Given the description of an element on the screen output the (x, y) to click on. 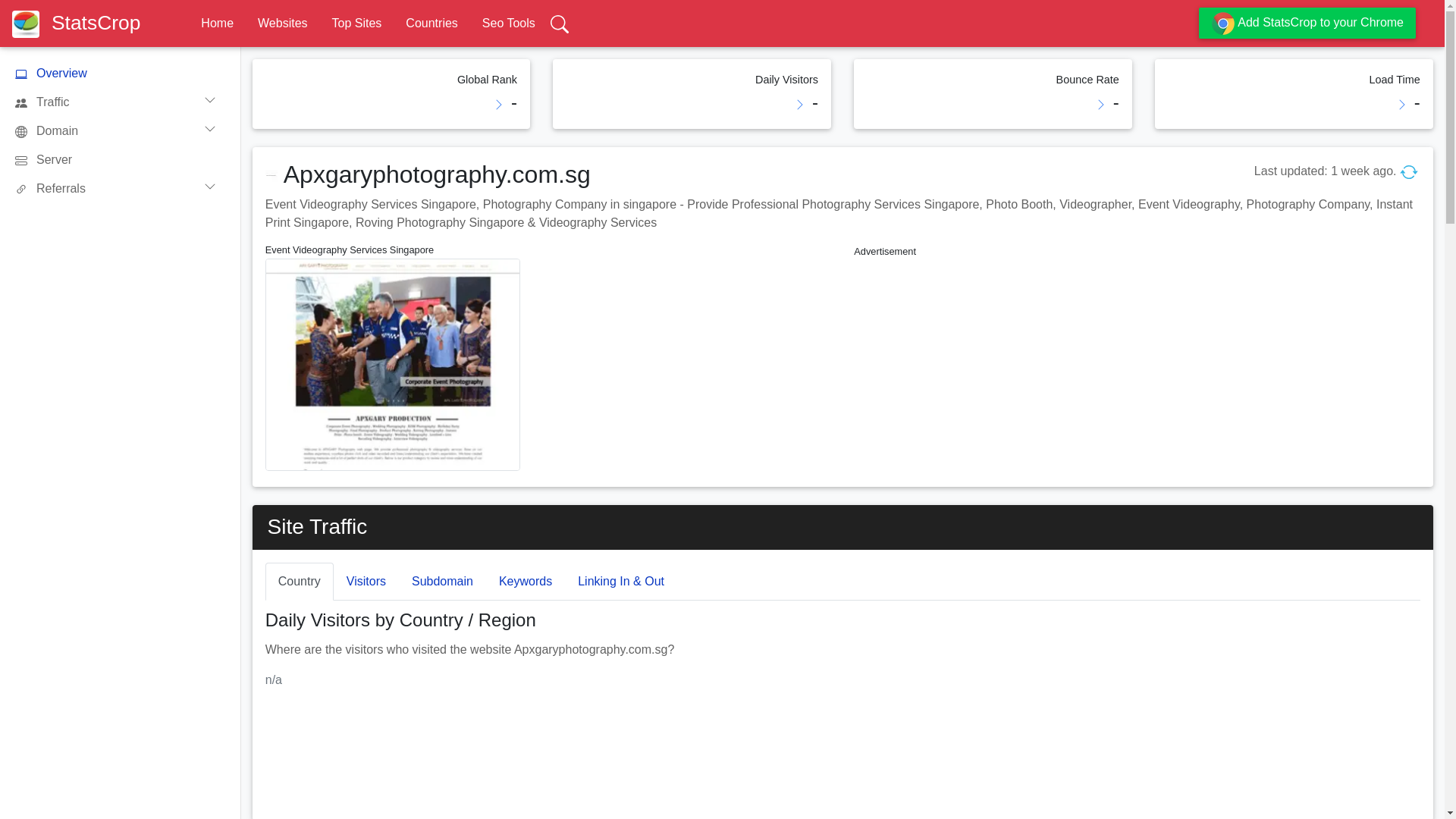
Seo Tools (508, 22)
Websites (282, 22)
Add StatsCrop to your Chrome (1306, 22)
Top Sites (356, 22)
Referrals (121, 188)
Subdomain (442, 581)
Overview (121, 72)
Home (216, 22)
Add StatsCrop to your Chrome (1306, 22)
Advertisement (1136, 367)
Free Seo Tools (508, 22)
Websites (282, 22)
Refresh (1408, 170)
Countries (431, 22)
Server (121, 159)
